Given the description of an element on the screen output the (x, y) to click on. 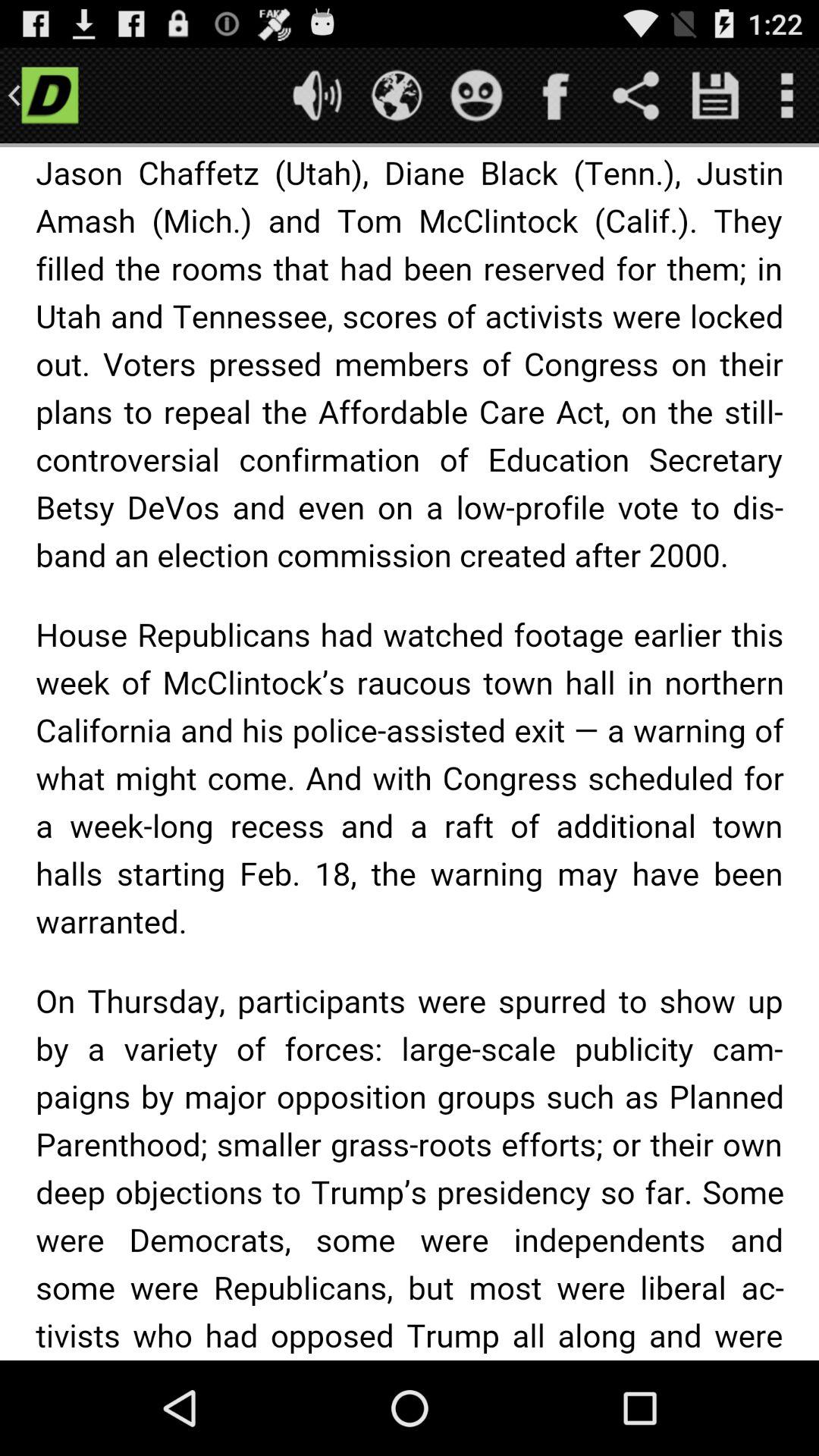
article (409, 753)
